Given the description of an element on the screen output the (x, y) to click on. 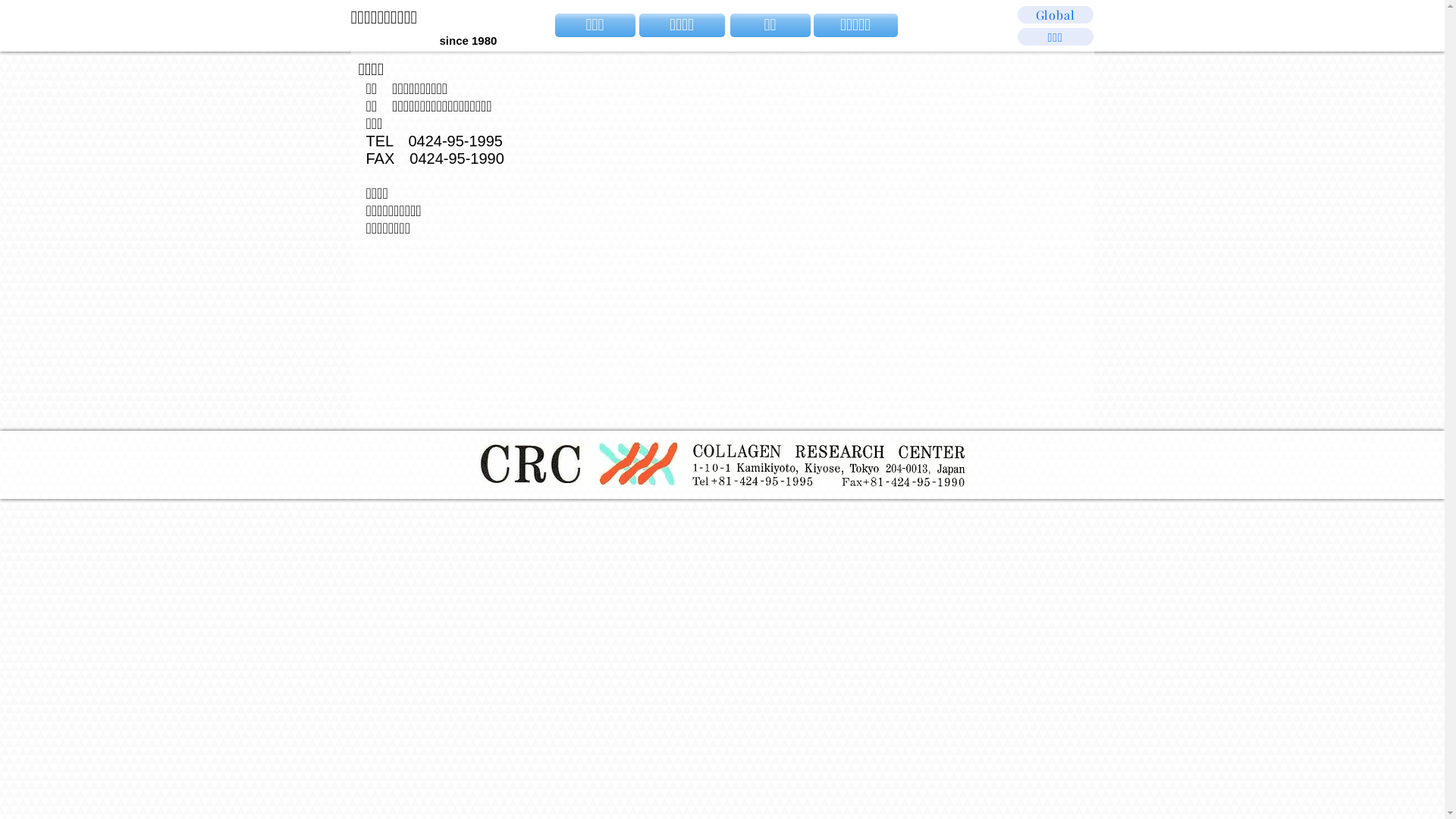
Global Element type: text (1055, 14)
